Given the description of an element on the screen output the (x, y) to click on. 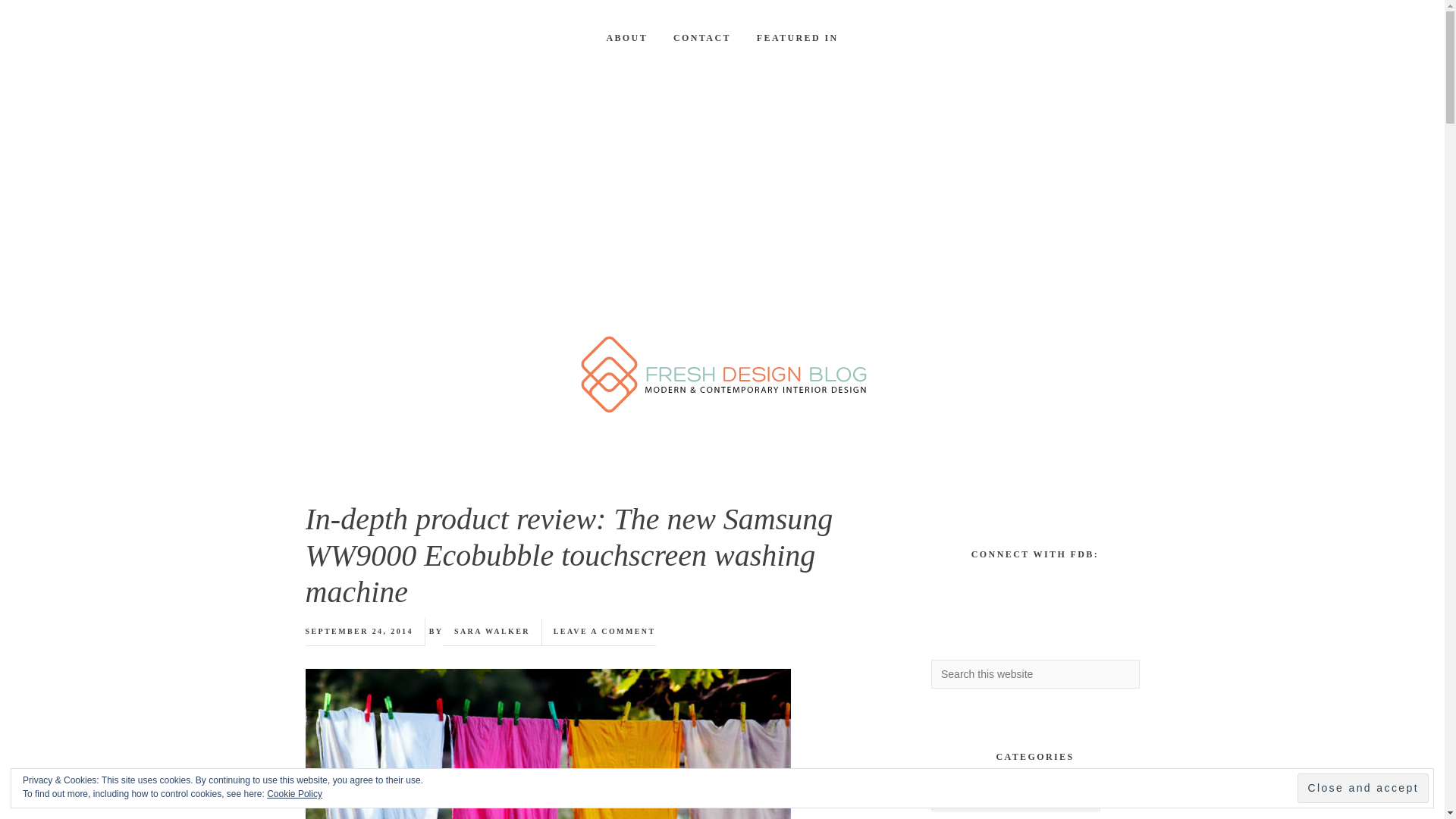
LEAVE A COMMENT (604, 631)
Close and accept (1362, 788)
CONTACT (702, 38)
Fresh Design Blog (721, 376)
SARA WALKER (491, 631)
FEATURED IN (797, 38)
